Given the description of an element on the screen output the (x, y) to click on. 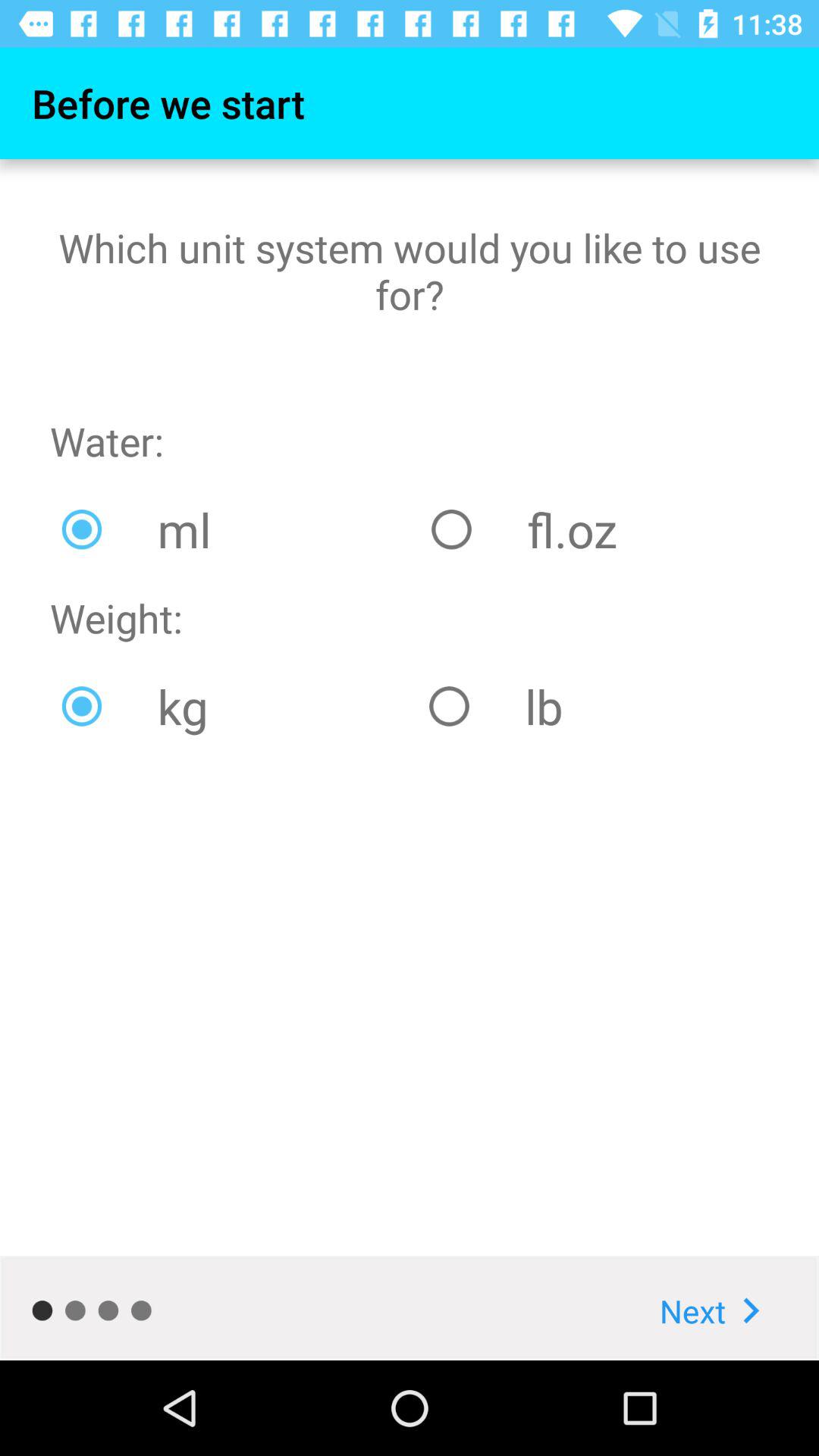
turn on item below ml icon (592, 706)
